Given the description of an element on the screen output the (x, y) to click on. 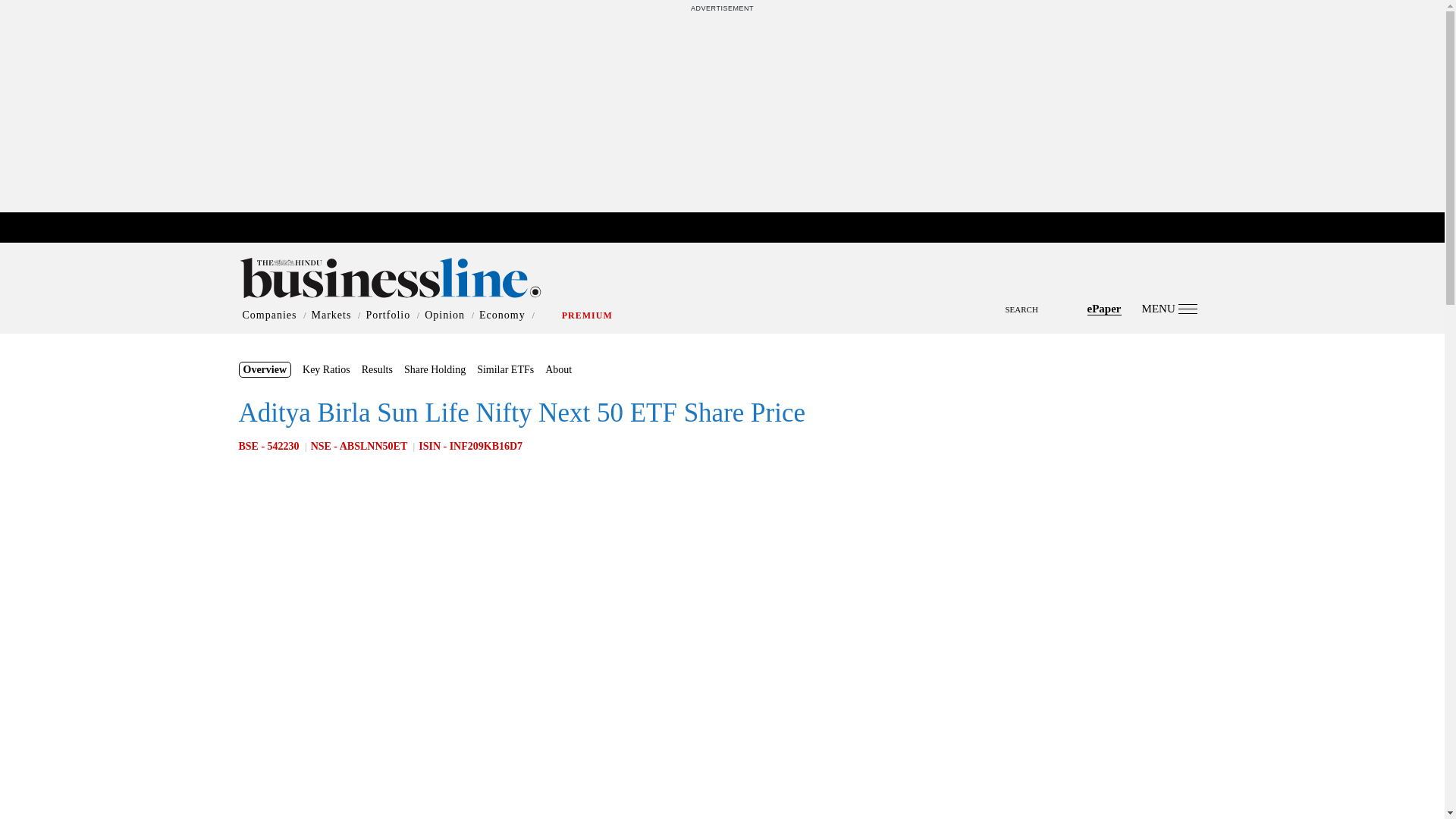
marketupdate (729, 228)
MENU (1168, 308)
Markets (330, 315)
PREMIUM (587, 315)
Portfolio (387, 315)
SEARCH (721, 295)
ePaper (1104, 308)
Opinion (444, 315)
Economy (502, 315)
Companies (270, 315)
